Given the description of an element on the screen output the (x, y) to click on. 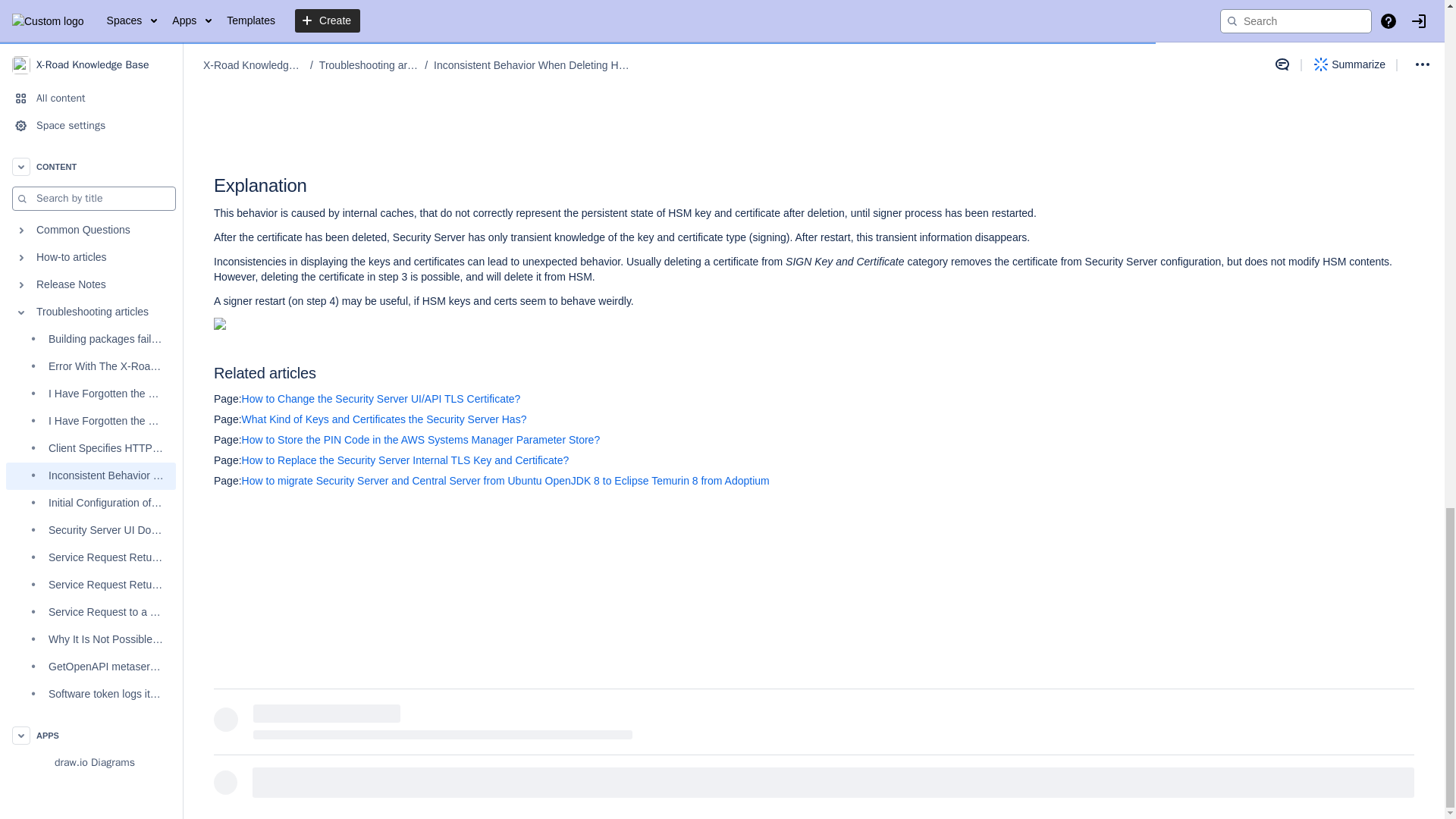
Page (227, 439)
Page (227, 419)
Page (227, 398)
Page (227, 480)
Page (227, 460)
